Given the description of an element on the screen output the (x, y) to click on. 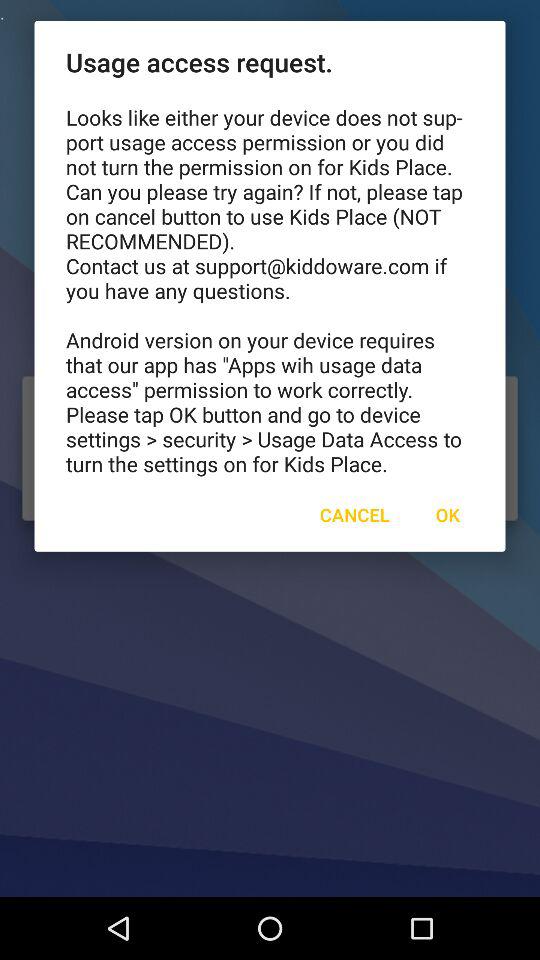
open icon to the left of the ok icon (354, 514)
